Given the description of an element on the screen output the (x, y) to click on. 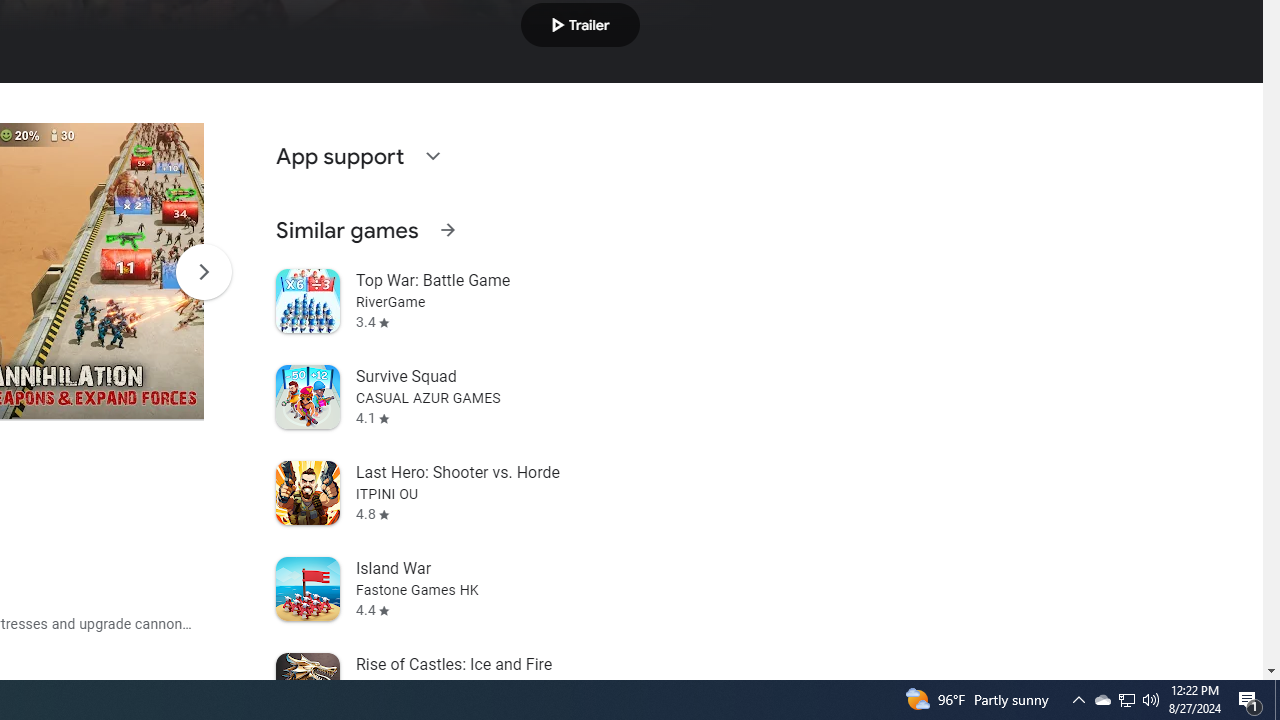
Scroll Next (203, 272)
See more information on Similar games (447, 229)
Play trailer (580, 24)
Expand (432, 155)
